Given the description of an element on the screen output the (x, y) to click on. 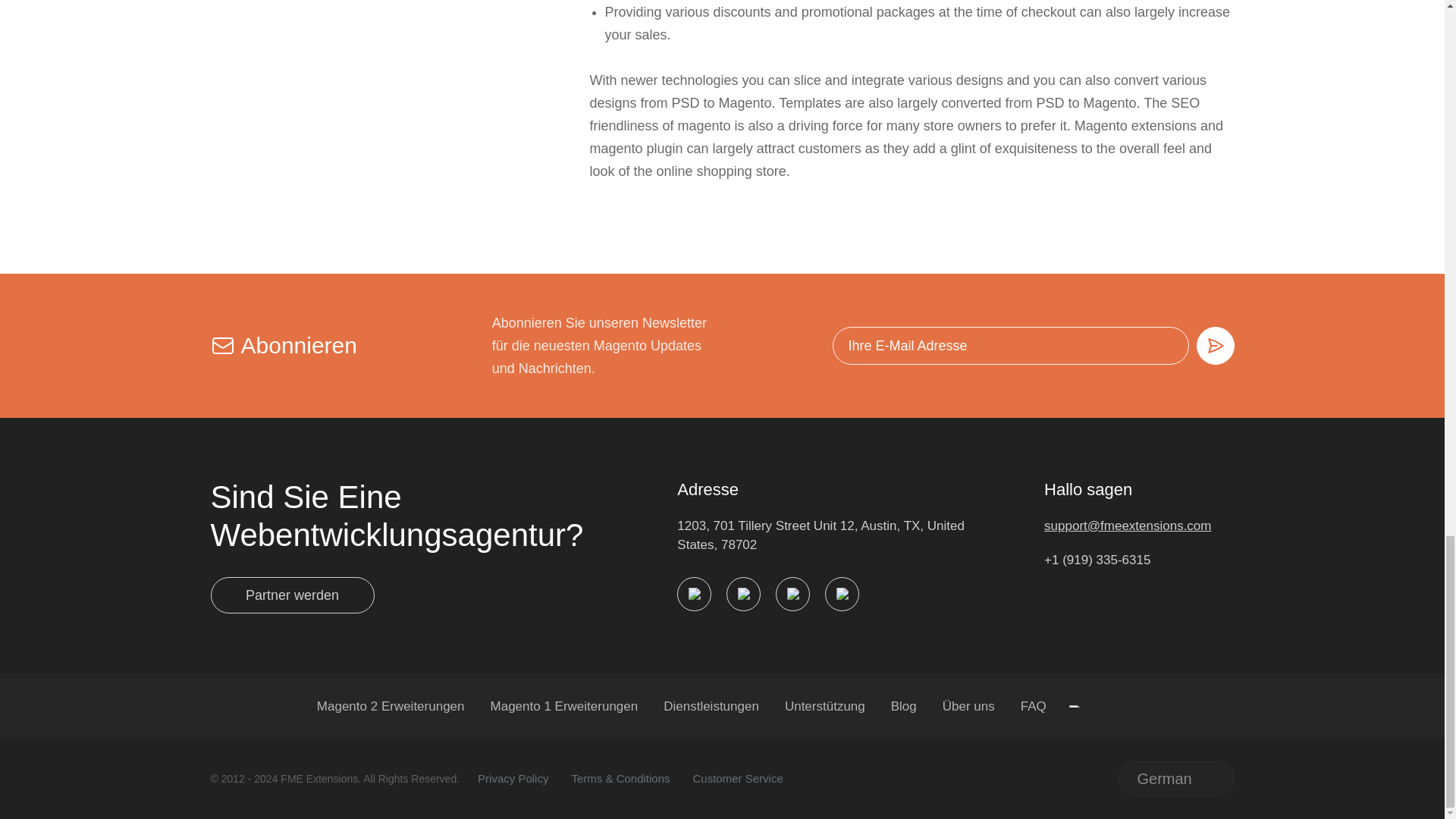
Magento 1 Erweiterungen (564, 706)
Partner werden (292, 595)
FAQ (1033, 706)
Magento 2 Erweiterungen (390, 706)
Privacy Policy (512, 778)
Dienstleistungen (710, 706)
Customer Service (738, 778)
Blog (904, 706)
